Given the description of an element on the screen output the (x, y) to click on. 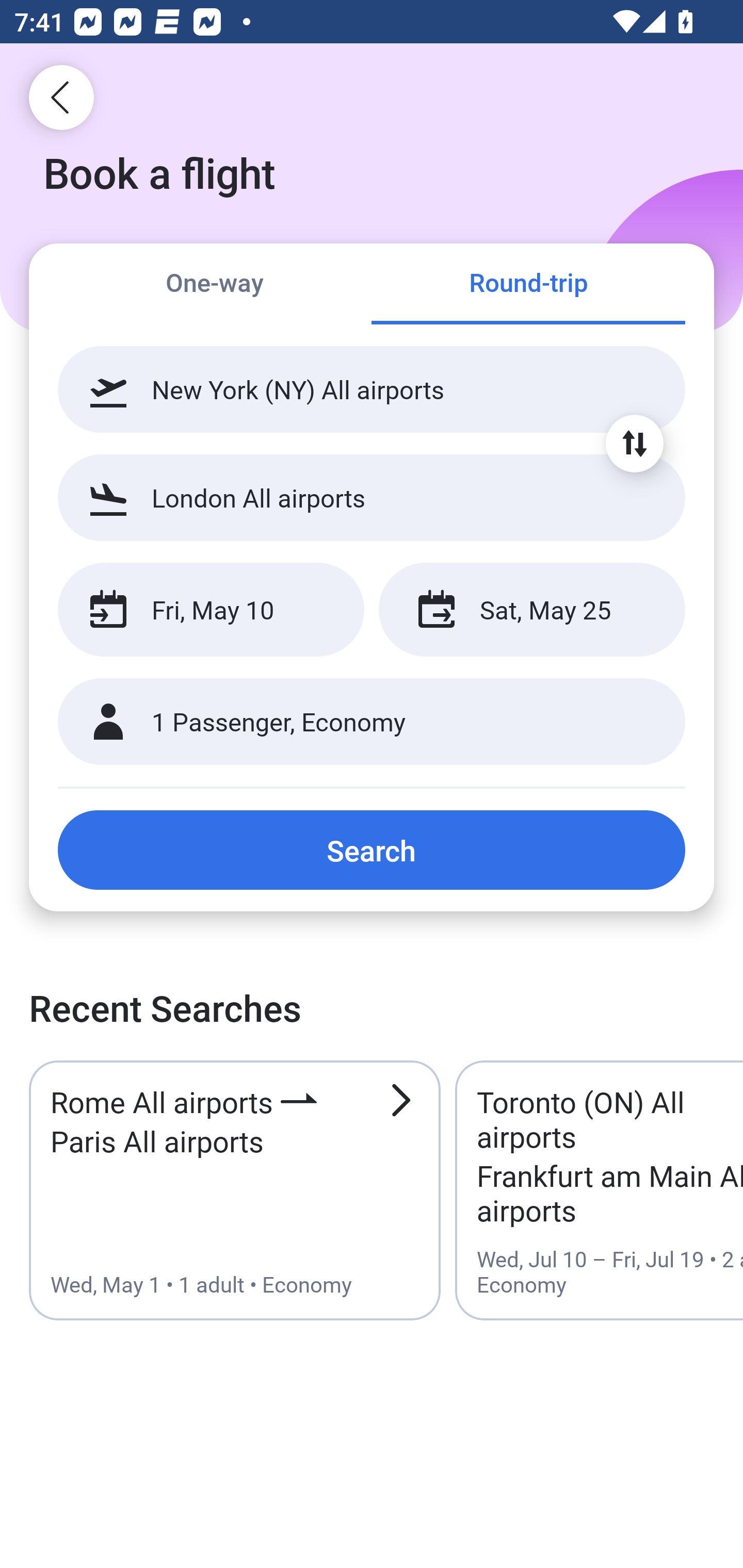
One-way (214, 284)
New York (NY) All airports (371, 389)
London All airports (371, 497)
Fri, May 10 (210, 609)
Sat, May 25 (531, 609)
1 Passenger, Economy (371, 721)
Search (371, 849)
